Given the description of an element on the screen output the (x, y) to click on. 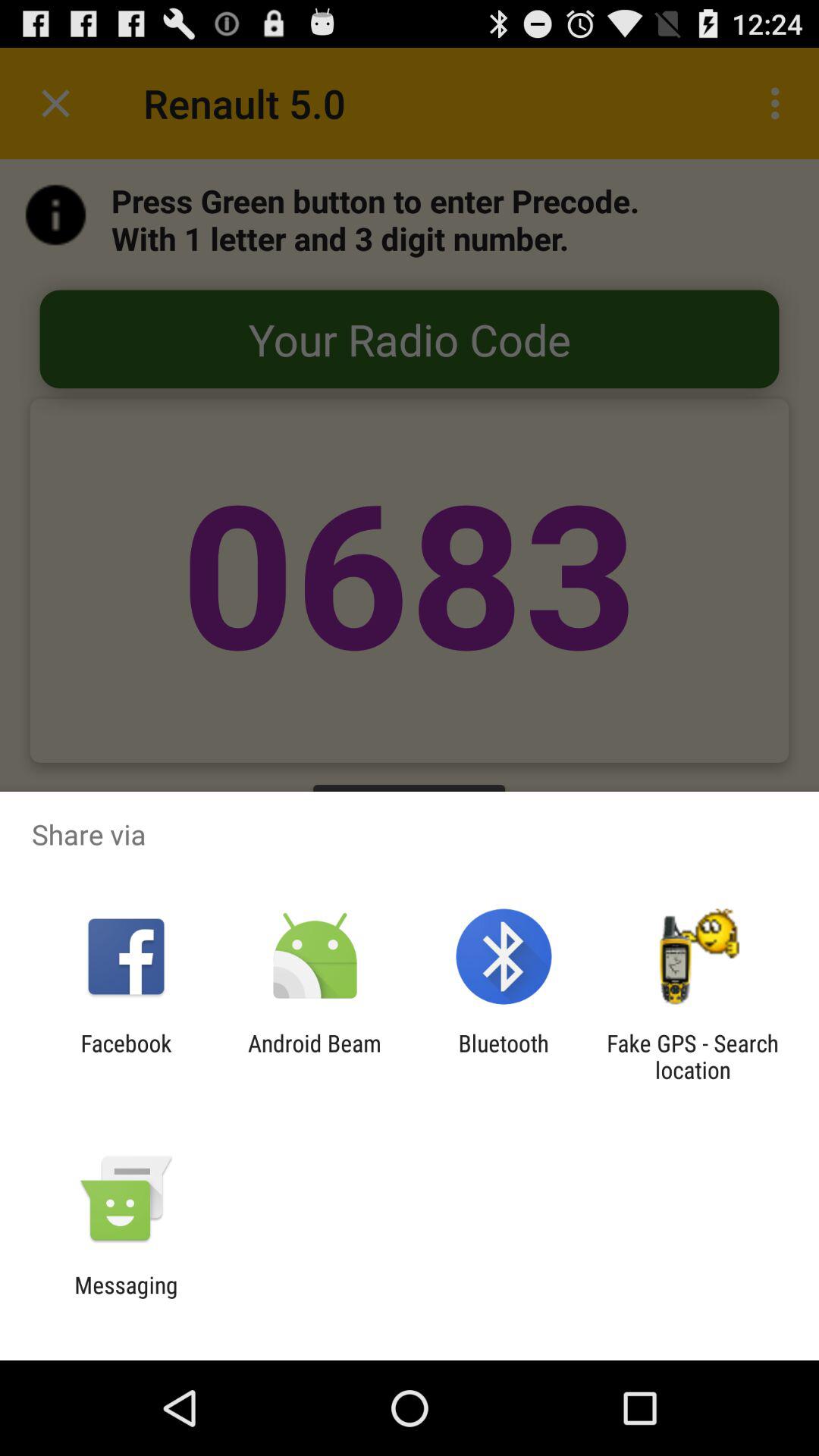
choose app at the bottom right corner (692, 1056)
